Given the description of an element on the screen output the (x, y) to click on. 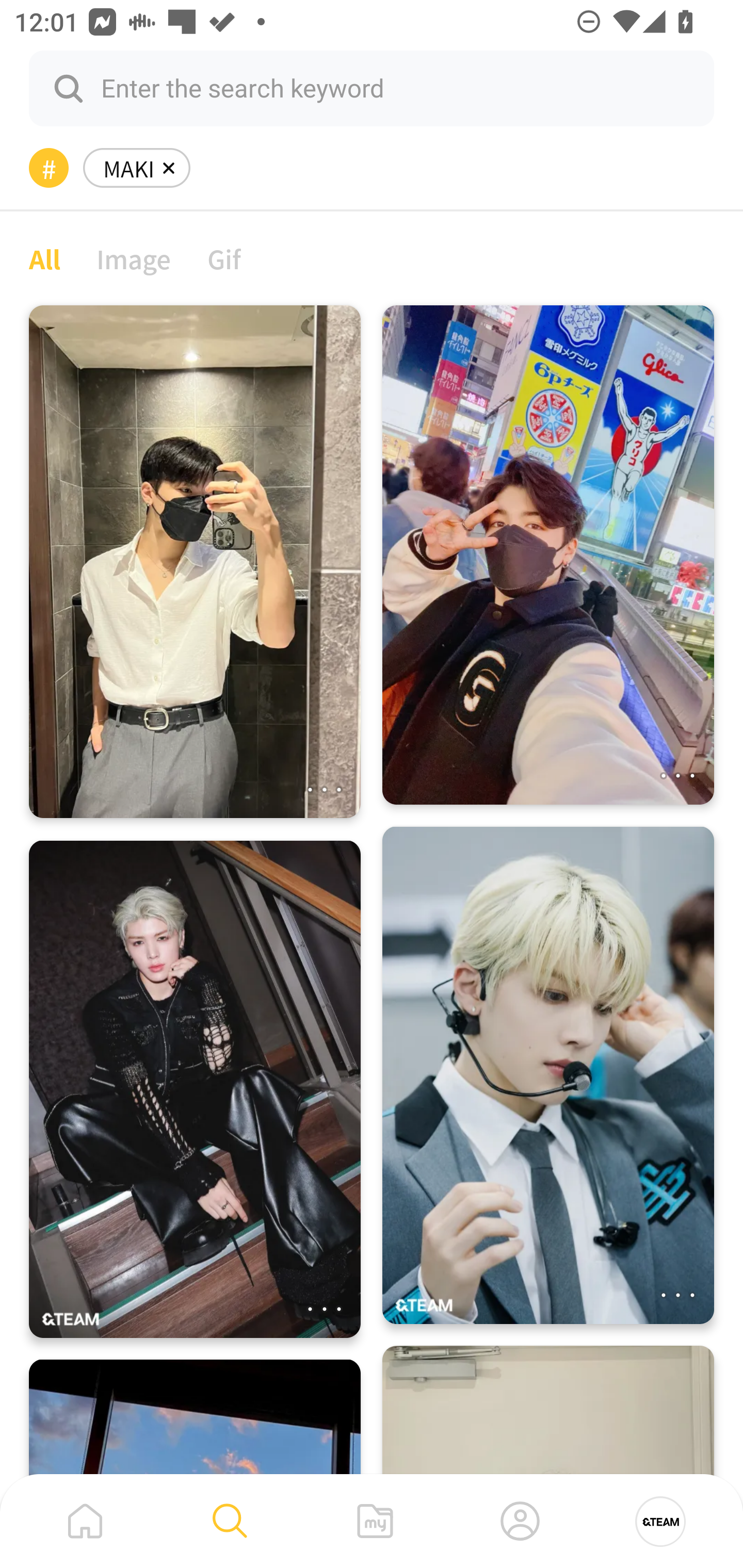
All (44, 257)
Image (133, 257)
Gif (223, 257)
